Given the description of an element on the screen output the (x, y) to click on. 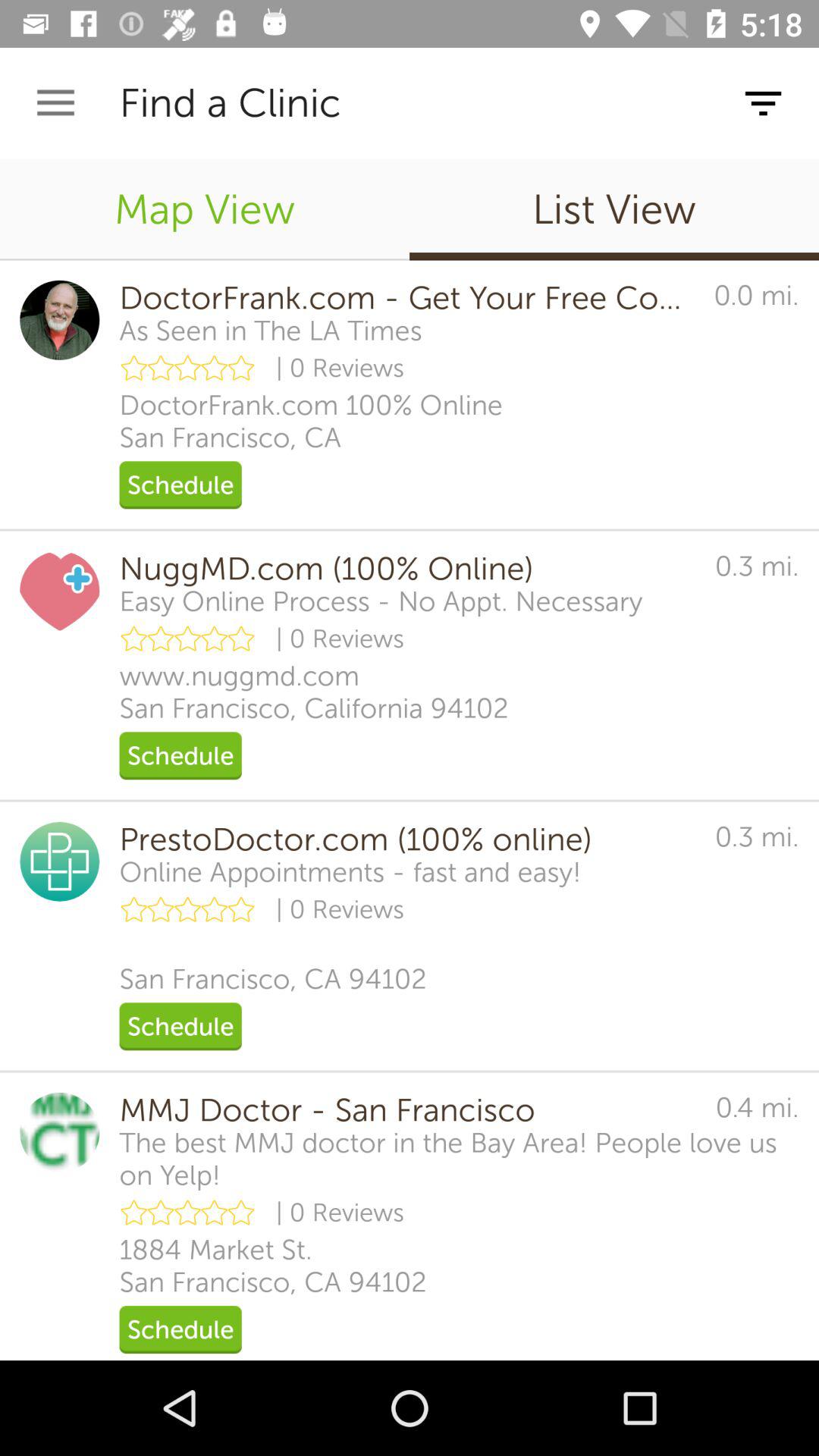
choose icon to the left of 0.3 mi. item (350, 872)
